Given the description of an element on the screen output the (x, y) to click on. 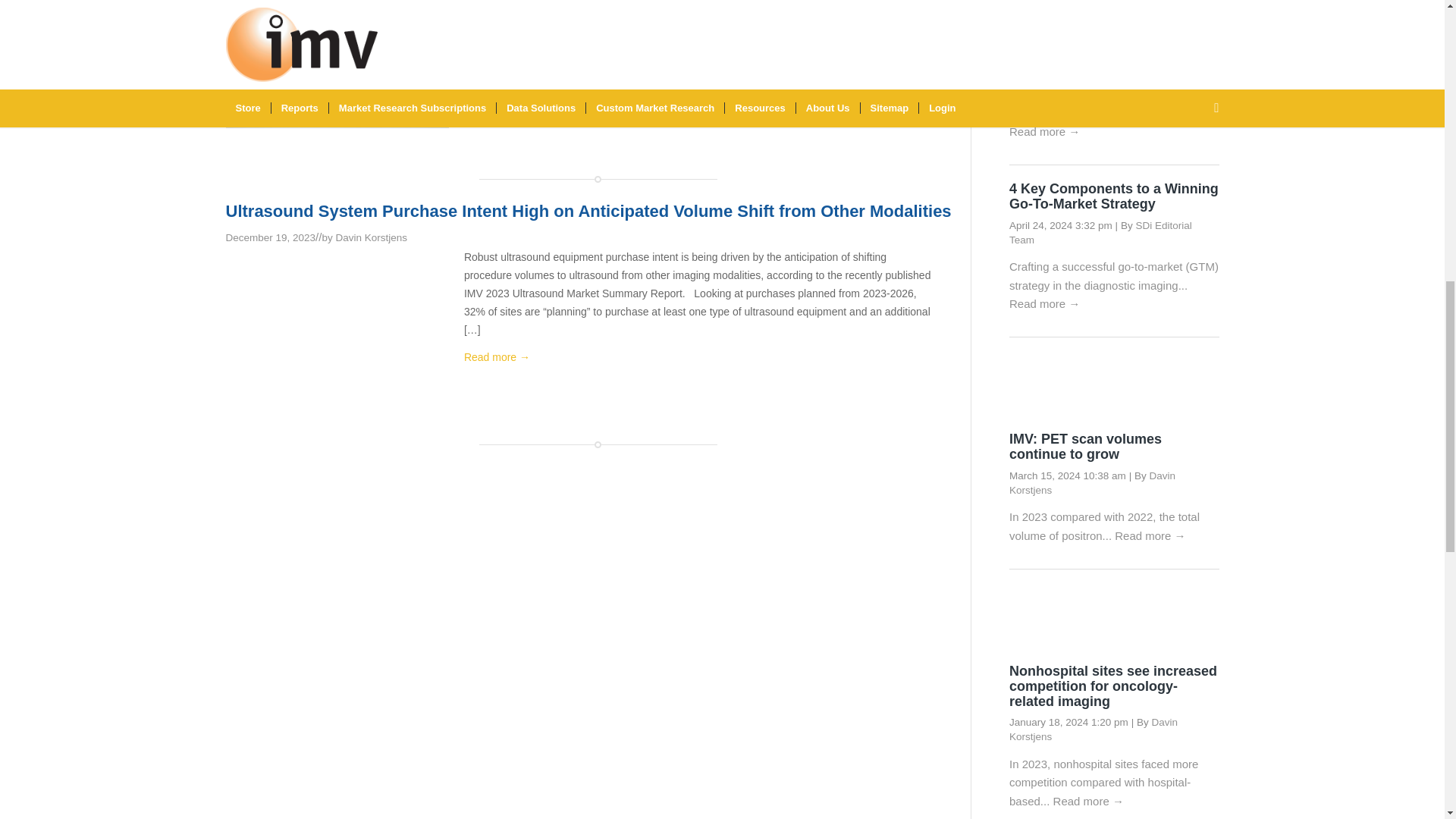
Posts by Davin Korstjens (370, 237)
